Given the description of an element on the screen output the (x, y) to click on. 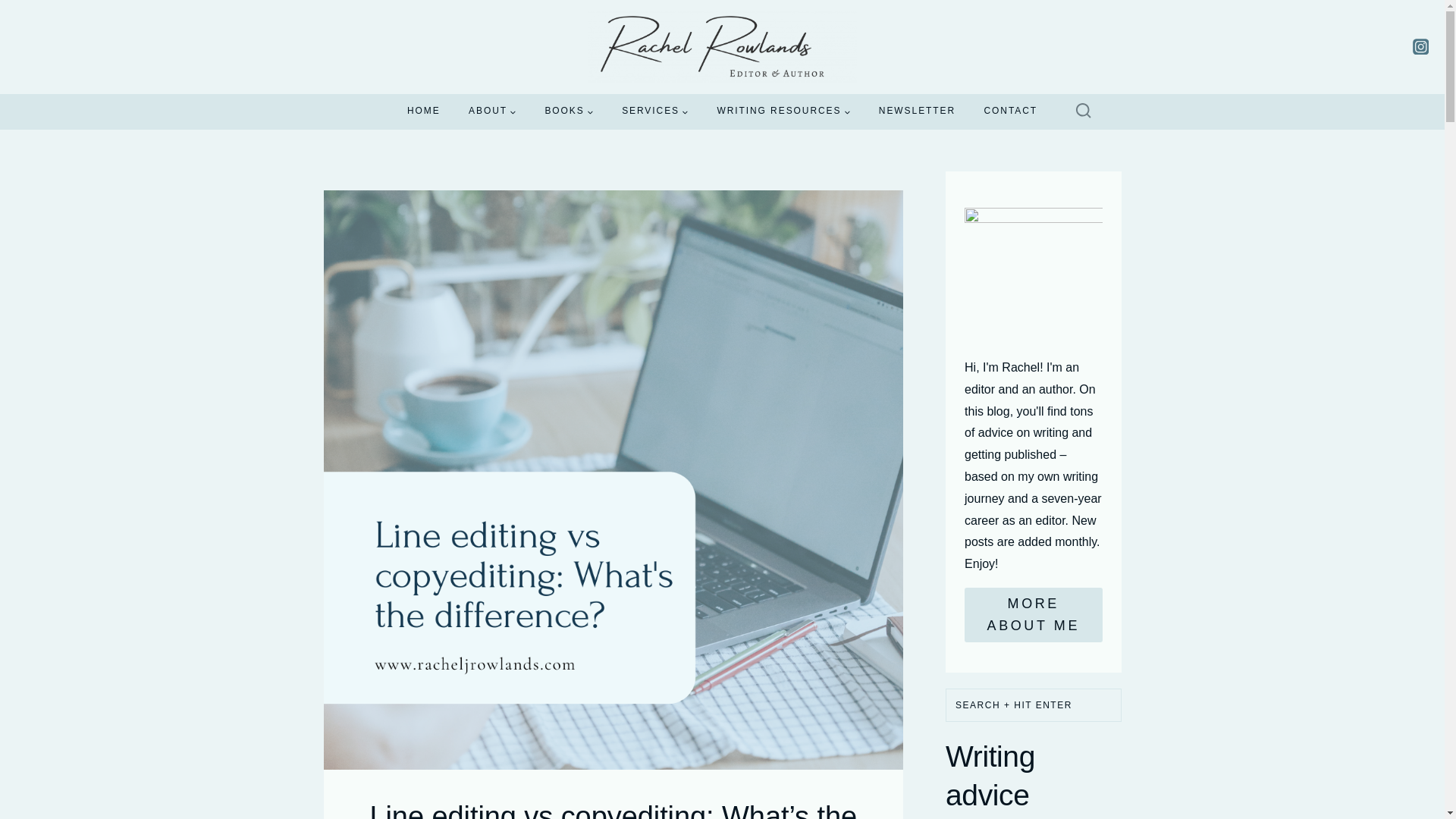
WRITING RESOURCES (783, 111)
SERVICES (654, 111)
CONTACT (1010, 111)
BOOKS (569, 111)
NEWSLETTER (916, 111)
HOME (423, 111)
ABOUT (491, 111)
